Given the description of an element on the screen output the (x, y) to click on. 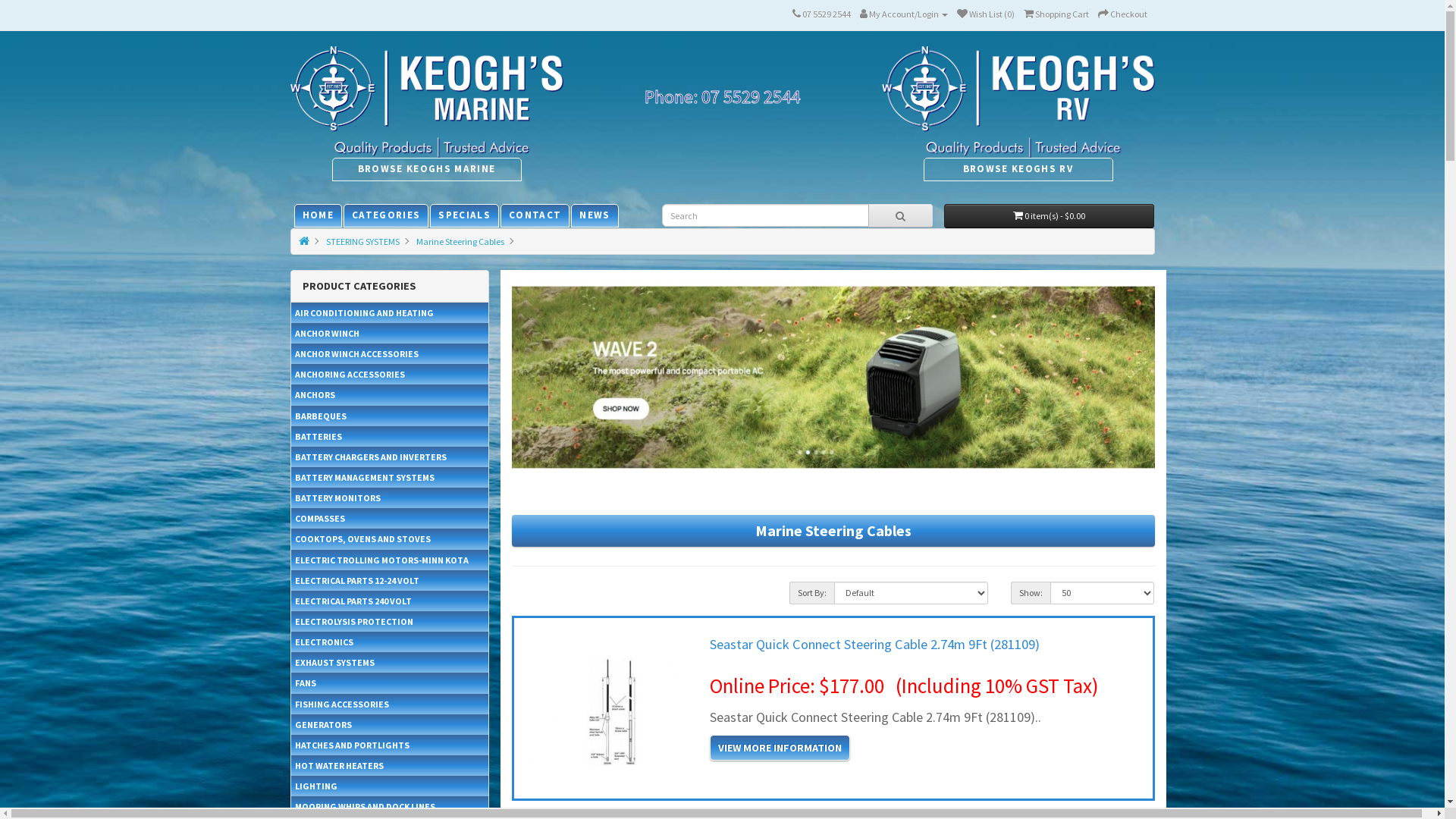
ELECTROLYSIS PROTECTION Element type: text (389, 621)
ELECTRICAL PARTS 240 VOLT Element type: text (389, 600)
ELECTRIC TROLLING MOTORS-MINN KOTA Element type: text (389, 559)
BATTERY MONITORS Element type: text (389, 497)
COOKTOPS, OVENS AND STOVES Element type: text (389, 538)
BATTERIES Element type: text (389, 436)
HOT WATER HEATERS Element type: text (389, 765)
Wish List (0) Element type: text (985, 13)
FANS Element type: text (389, 682)
CONTACT Element type: text (534, 214)
ANCHORS Element type: text (389, 394)
Seastar Quick Connect Steering Cable 2.74m 9Ft (281109) Element type: text (874, 643)
BATTERY CHARGERS AND INVERTERS Element type: text (389, 456)
ANCHOR WINCH ACCESSORIES Element type: text (389, 353)
ELECTRONICS Element type: text (389, 641)
Keoghs Marine and RV - AC-DC Electrical Specialists Element type: hover (1017, 101)
Seastar Quick Connect Steering Cable 2.74m 9Ft (281109) Element type: hover (611, 711)
BROWSE KEOGHS RV Element type: text (1018, 168)
Phone: 07 5529 2544 Element type: text (721, 96)
STEERING SYSTEMS Element type: text (362, 241)
Keoghs Marine and RV - AC-DC Electrical Specialists Element type: hover (425, 101)
ANCHORING ACCESSORIES Element type: text (389, 374)
0 item(s) - $0.00 Element type: text (1049, 215)
My Account/Login Element type: text (903, 13)
SPECIALS Element type: text (464, 214)
AIR CONDITIONING AND HEATING Element type: text (389, 312)
HATCHES AND PORTLIGHTS Element type: text (389, 744)
Marine Steering Cables Element type: text (459, 241)
GENERATORS Element type: text (389, 724)
CATEGORIES Element type: text (385, 214)
VIEW MORE INFORMATION Element type: text (779, 747)
HOME Element type: text (316, 214)
BARBEQUES Element type: text (389, 415)
MOORING WHIPS AND DOCK LINES Element type: text (389, 806)
COMPASSES Element type: text (389, 518)
BROWSE KEOGHS MARINE Element type: text (426, 168)
FISHING ACCESSORIES Element type: text (389, 703)
Shopping Cart Element type: text (1055, 13)
EXHAUST SYSTEMS Element type: text (389, 662)
ELECTRICAL PARTS 12-24 VOLT Element type: text (389, 580)
ANCHOR WINCH Element type: text (389, 333)
BATTERY MANAGEMENT SYSTEMS Element type: text (389, 477)
LIGHTING Element type: text (389, 785)
NEWS Element type: text (594, 214)
Checkout Element type: text (1122, 13)
